Given the description of an element on the screen output the (x, y) to click on. 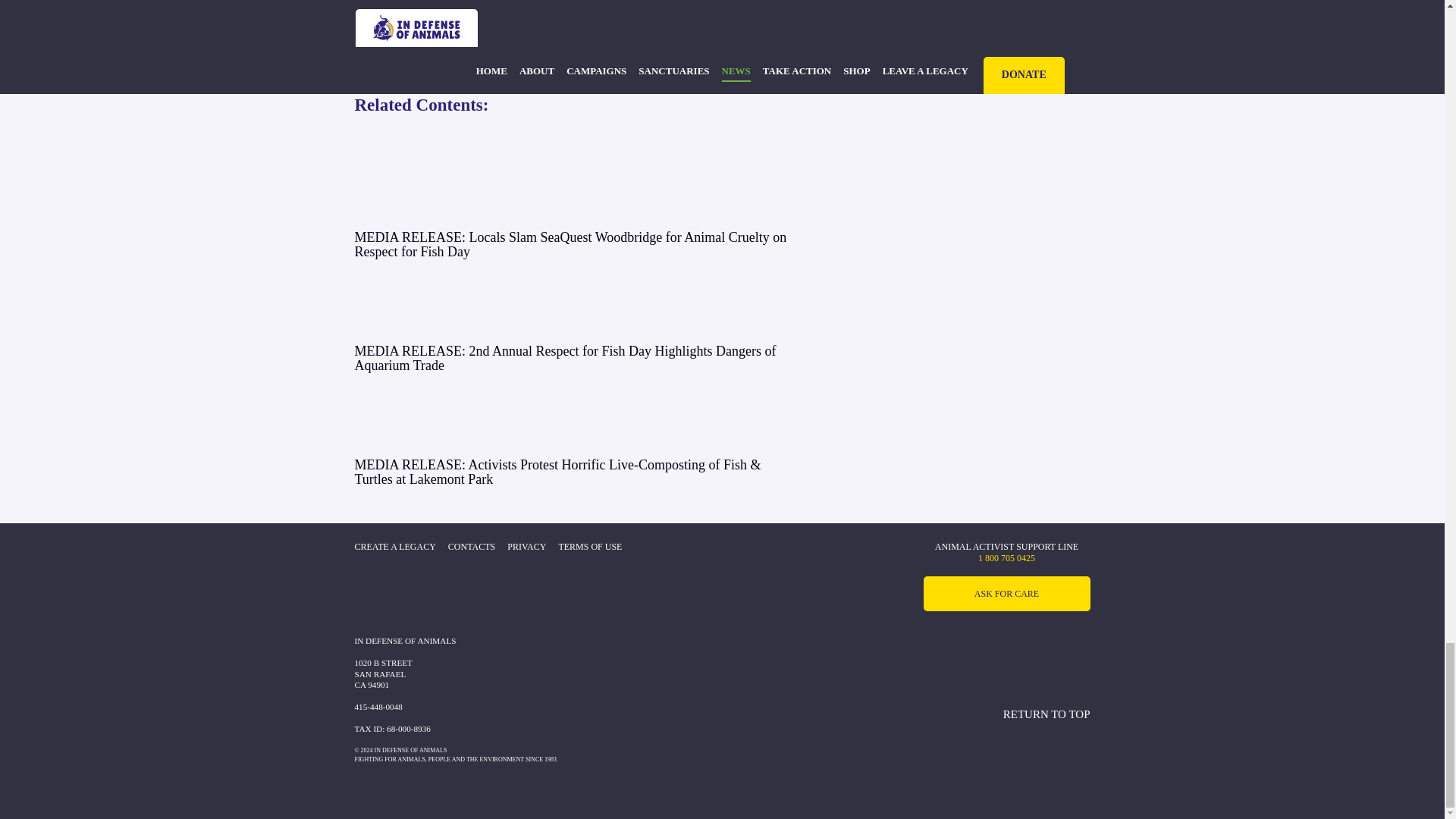
CREATE A LEGACY (395, 548)
CONTACTS (471, 548)
PRIVACY (526, 548)
TERMS OF USE (589, 548)
